Given the description of an element on the screen output the (x, y) to click on. 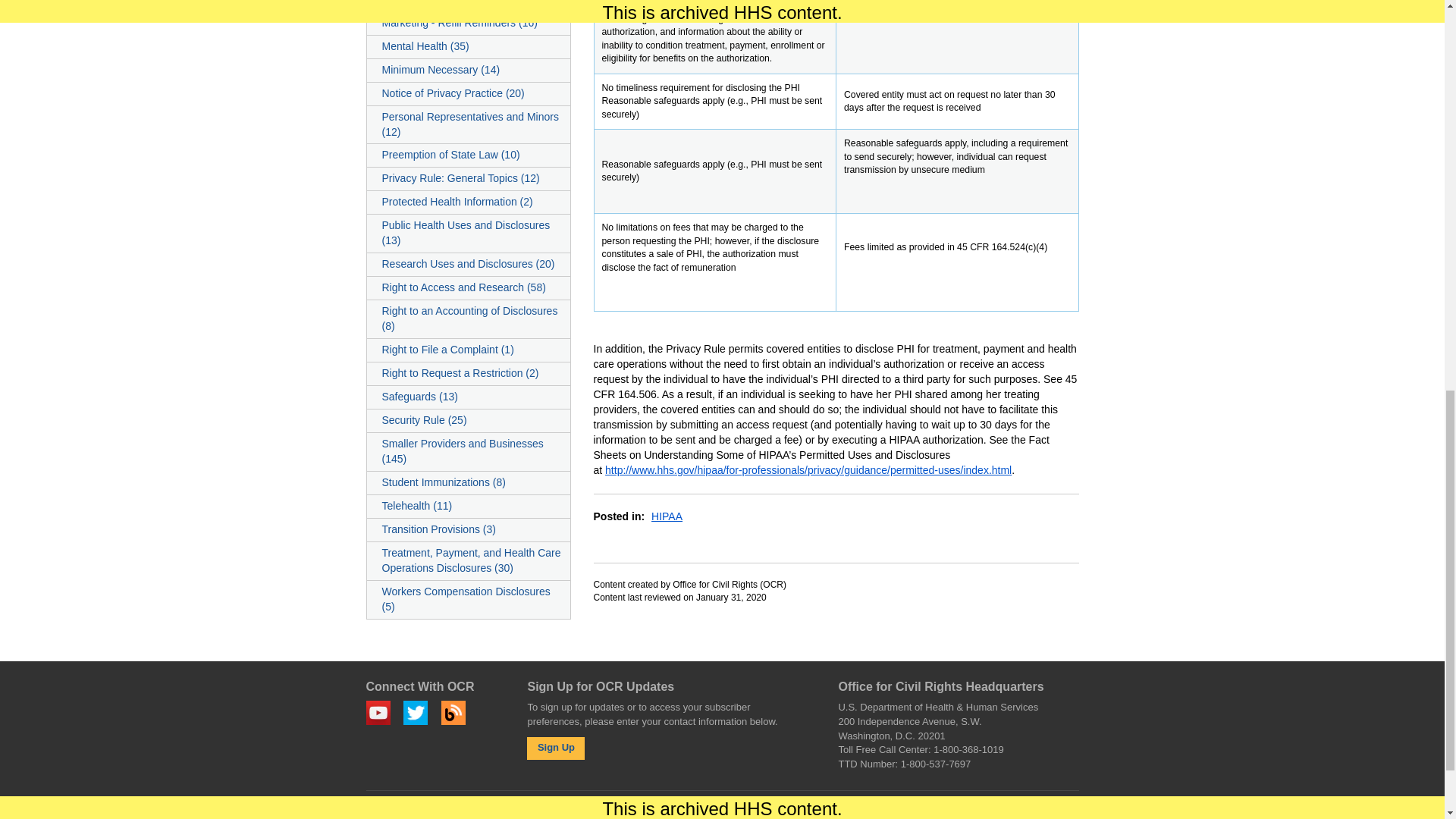
Visit the HHS OCR YouTube account (377, 712)
Visit the HHS OCR Twitter account (415, 712)
Sign Up (556, 748)
Visit the HHS Blog (453, 712)
